Given the description of an element on the screen output the (x, y) to click on. 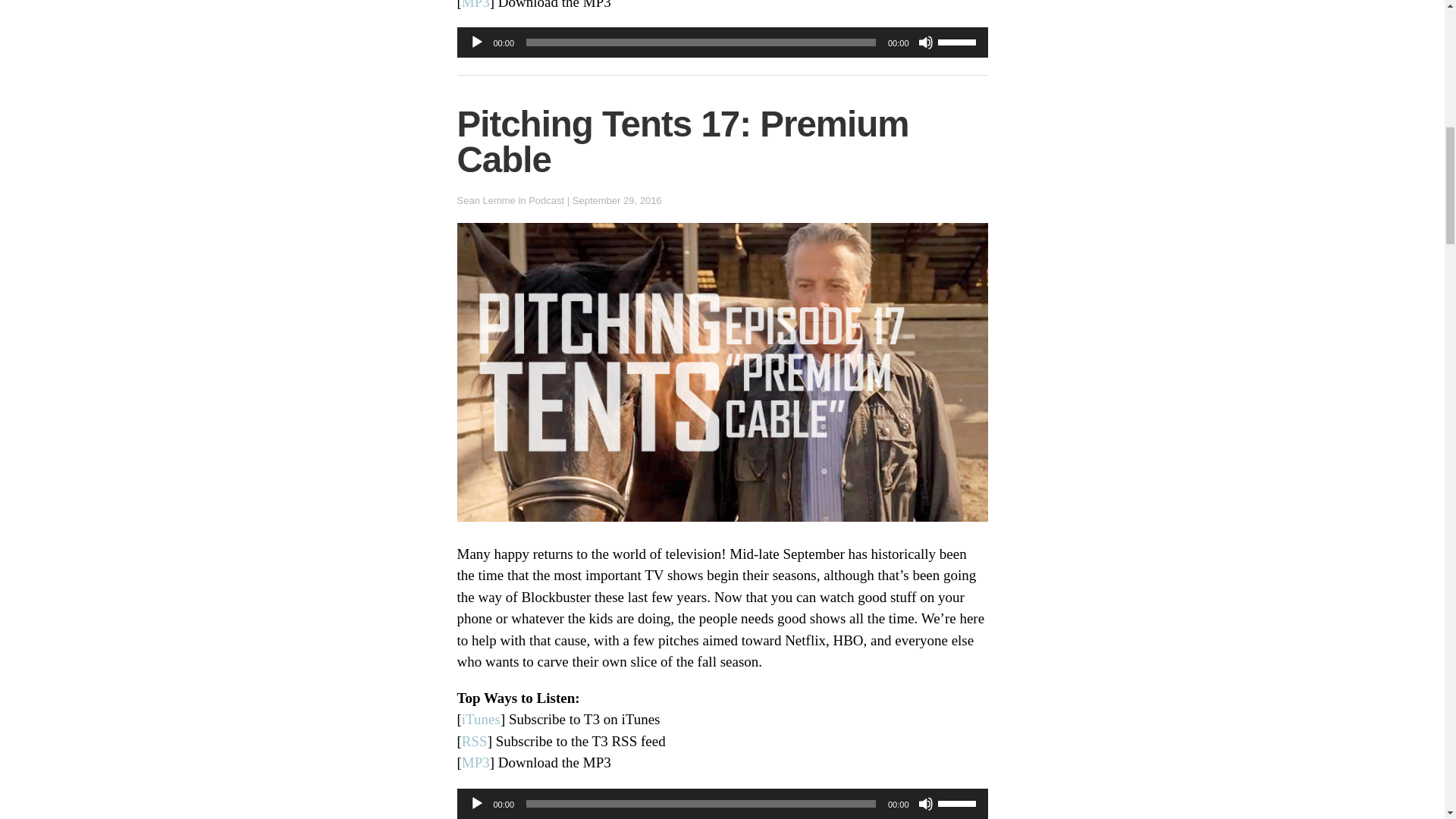
Mute (925, 42)
Pitching Tents 17: Premium Cable (682, 142)
Sean Lemme (486, 200)
MP3 (475, 4)
September 29, 2016 (617, 200)
View all posts by Sean Lemme (486, 200)
RSS (474, 741)
MP3 (475, 762)
Podcast (546, 200)
Permalink to Pitching Tents 17: Premium Cable (682, 142)
